Given the description of an element on the screen output the (x, y) to click on. 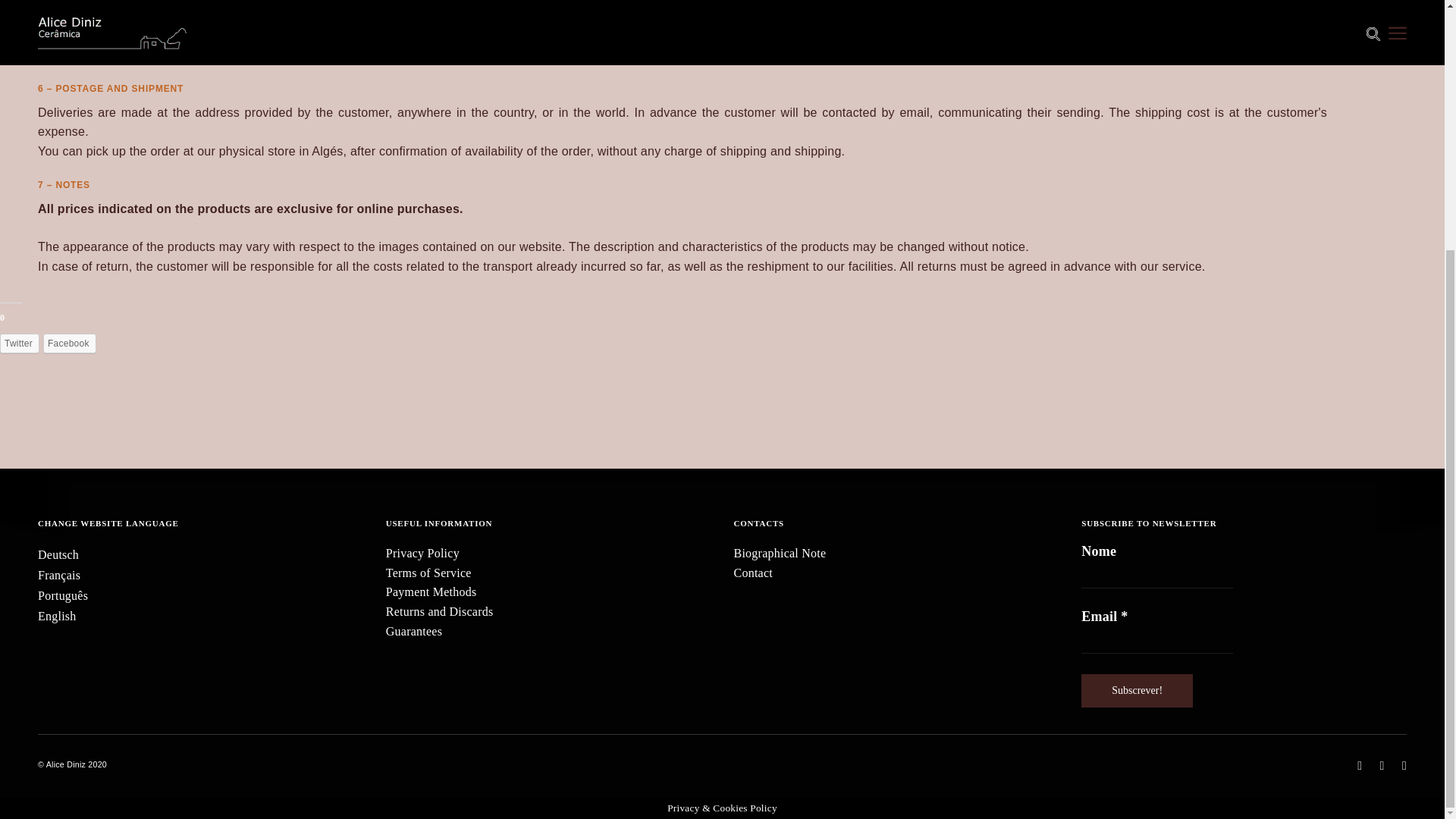
Guarantees (548, 631)
Privacy Policy (548, 553)
Deutsch (57, 555)
Click to share on Facebook (69, 342)
Returns and Discards (548, 611)
Contact (896, 573)
Nome (1157, 577)
English (57, 616)
Email (1157, 642)
Facebook (69, 342)
